Given the description of an element on the screen output the (x, y) to click on. 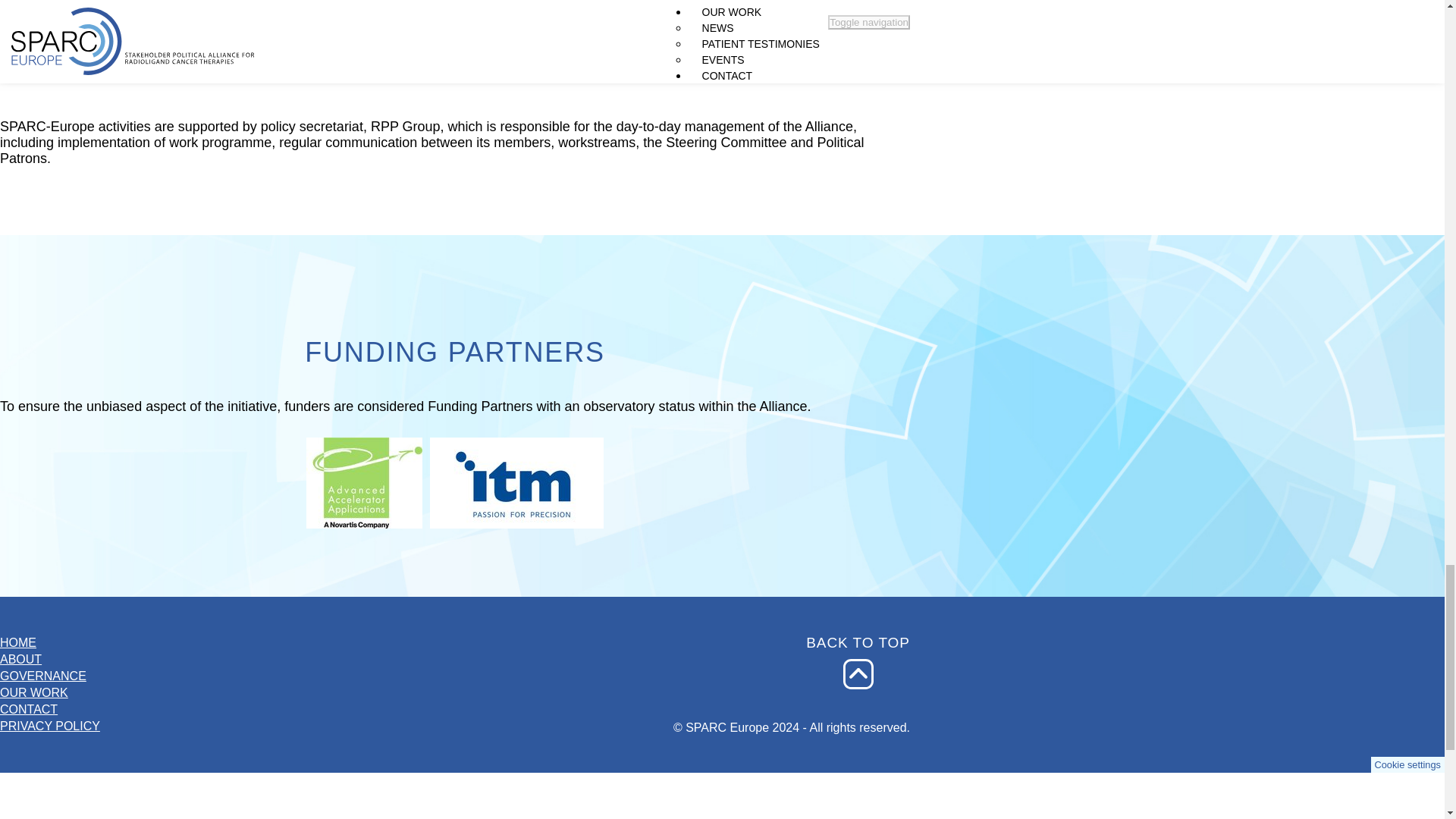
OUR WORK (50, 692)
Home (50, 642)
HOME (50, 642)
Our work (50, 692)
GOVERNANCE (50, 676)
BACK TO TOP (858, 672)
ABOUT (50, 659)
Privacy Policy (50, 726)
CONTACT (50, 709)
PRIVACY POLICY (50, 726)
About (50, 659)
Contact (50, 709)
Governance (50, 676)
